Given the description of an element on the screen output the (x, y) to click on. 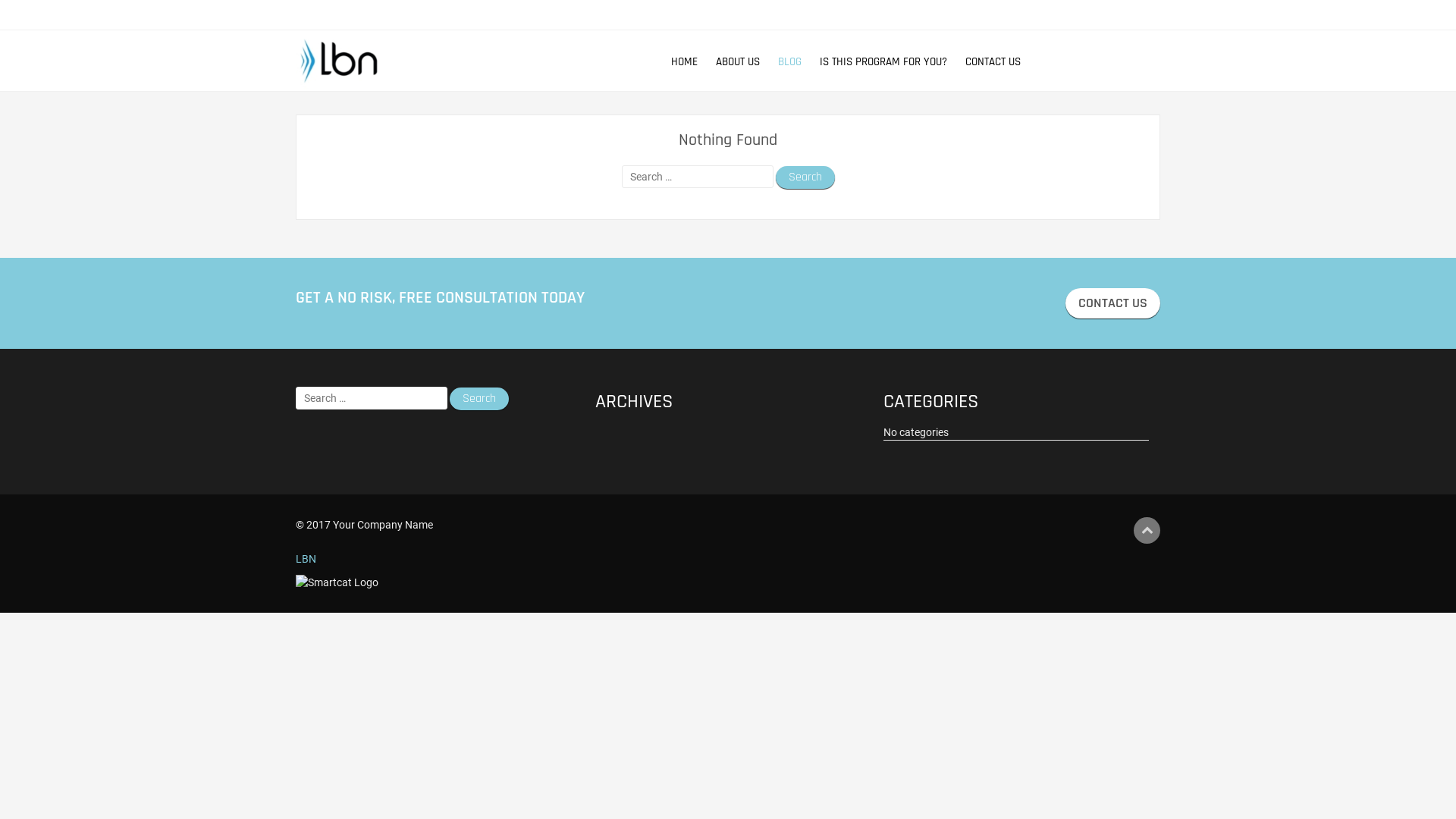
HOME Element type: text (676, 62)
Search Element type: text (804, 177)
CONTACT US Element type: text (985, 62)
BLOG Element type: text (781, 62)
Search Element type: text (478, 398)
LBN Element type: text (305, 558)
CONTACT US Element type: text (1112, 303)
ABOUT US Element type: text (729, 62)
IS THIS PROGRAM FOR YOU? Element type: text (875, 62)
